Given the description of an element on the screen output the (x, y) to click on. 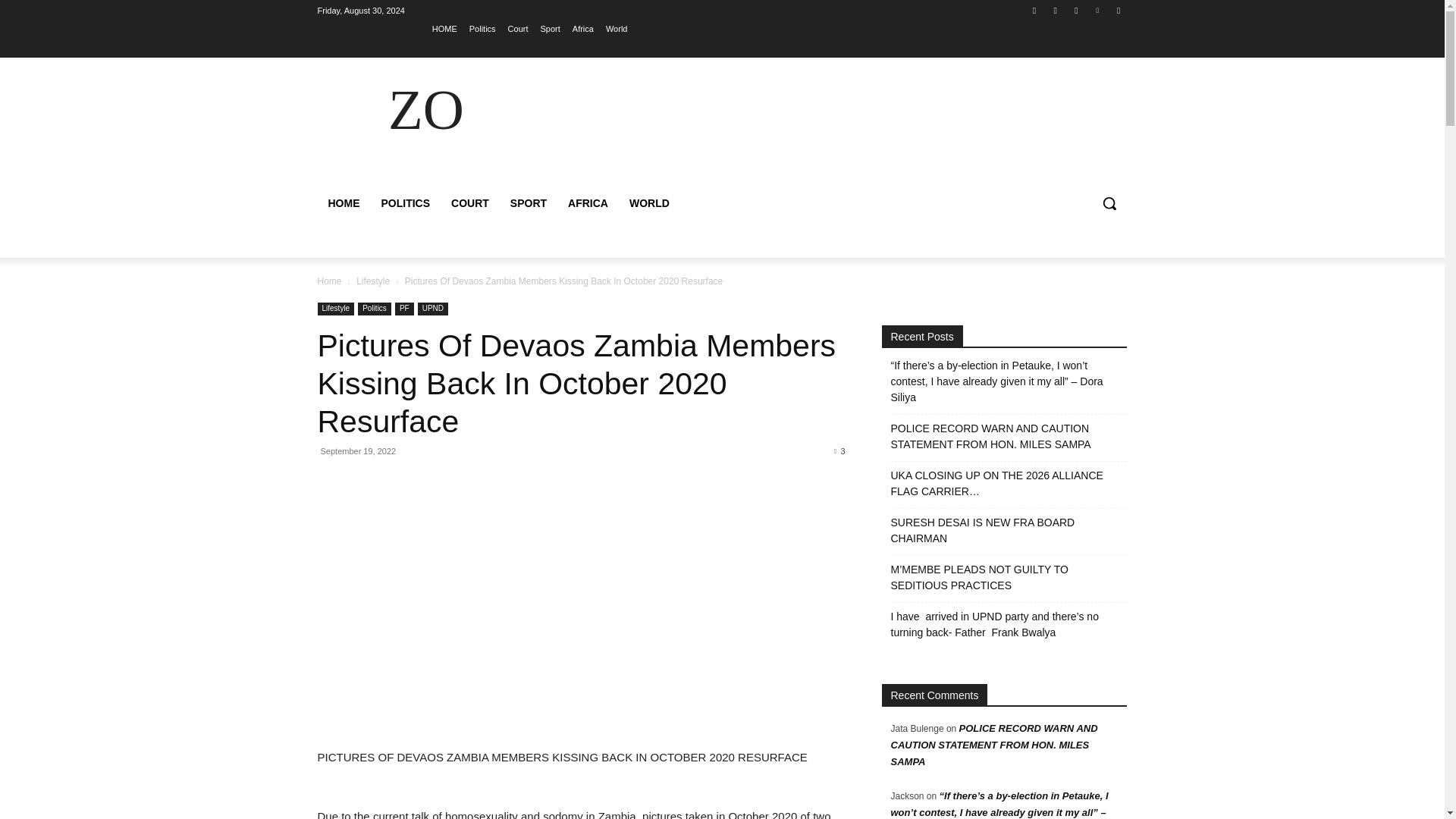
ZO (425, 109)
Youtube (1117, 9)
View all posts in Lifestyle (373, 281)
HOME (343, 203)
HOME (444, 28)
3 (839, 450)
COURT (470, 203)
Politics (374, 308)
UPND (432, 308)
POLITICS (405, 203)
